Given the description of an element on the screen output the (x, y) to click on. 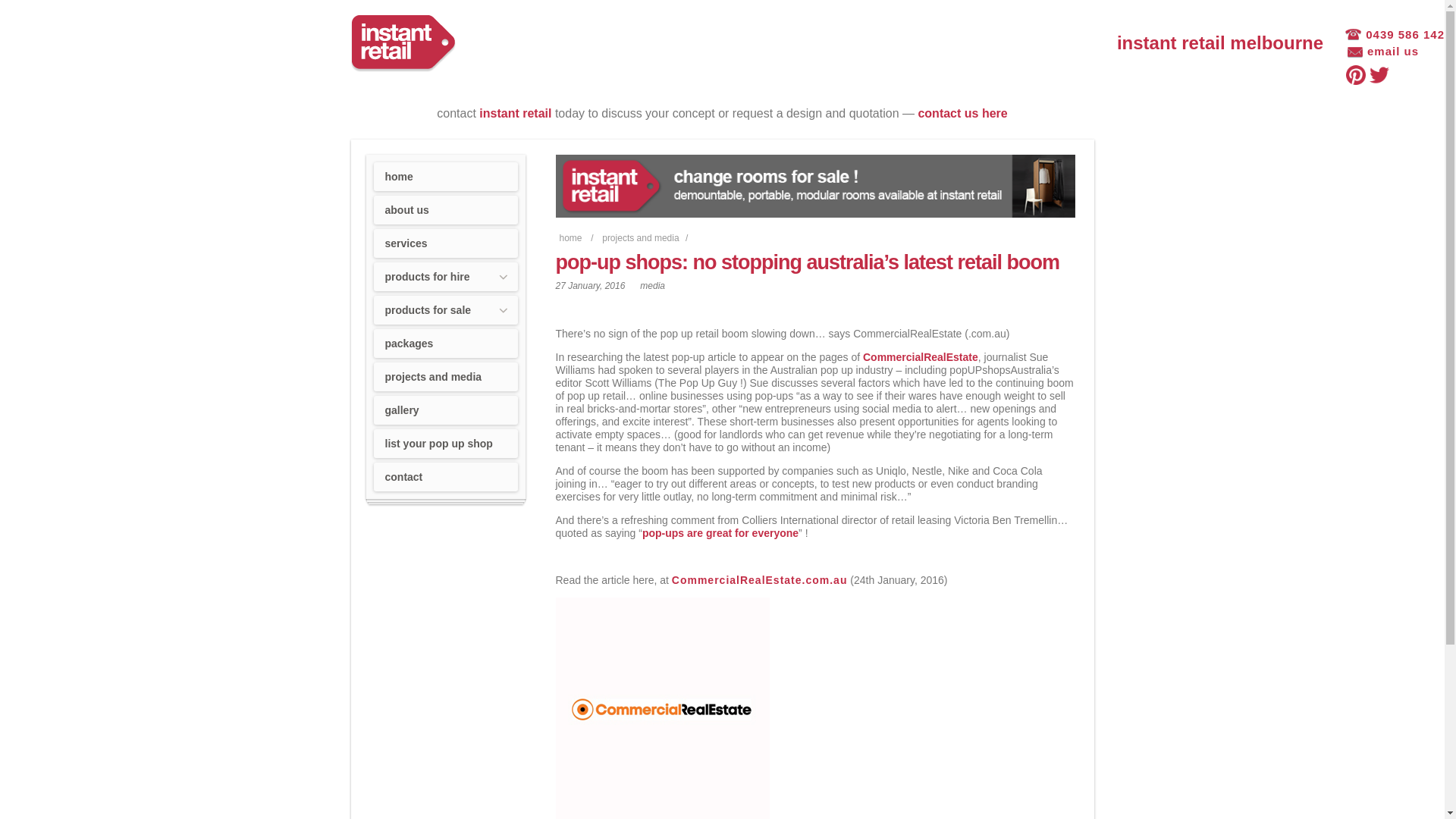
media Element type: text (652, 285)
home Element type: text (570, 237)
products for hire Element type: text (445, 276)
Pinterest Element type: hover (1355, 74)
about us Element type: text (445, 209)
gallery Element type: text (445, 409)
email us Element type: text (1382, 52)
packages Element type: text (445, 343)
CommercialRealEstate.com.au Element type: text (759, 580)
instant retail Element type: text (515, 112)
projects and media Element type: text (640, 237)
contact Element type: text (445, 476)
products for sale Element type: text (445, 309)
home Element type: text (445, 176)
services Element type: text (445, 243)
projects and media Element type: text (445, 376)
list your pop up shop Element type: text (445, 443)
Pop Up Shops Melbourne Element type: hover (402, 43)
contact us here Element type: text (962, 112)
Twitter Element type: hover (1379, 74)
